Given the description of an element on the screen output the (x, y) to click on. 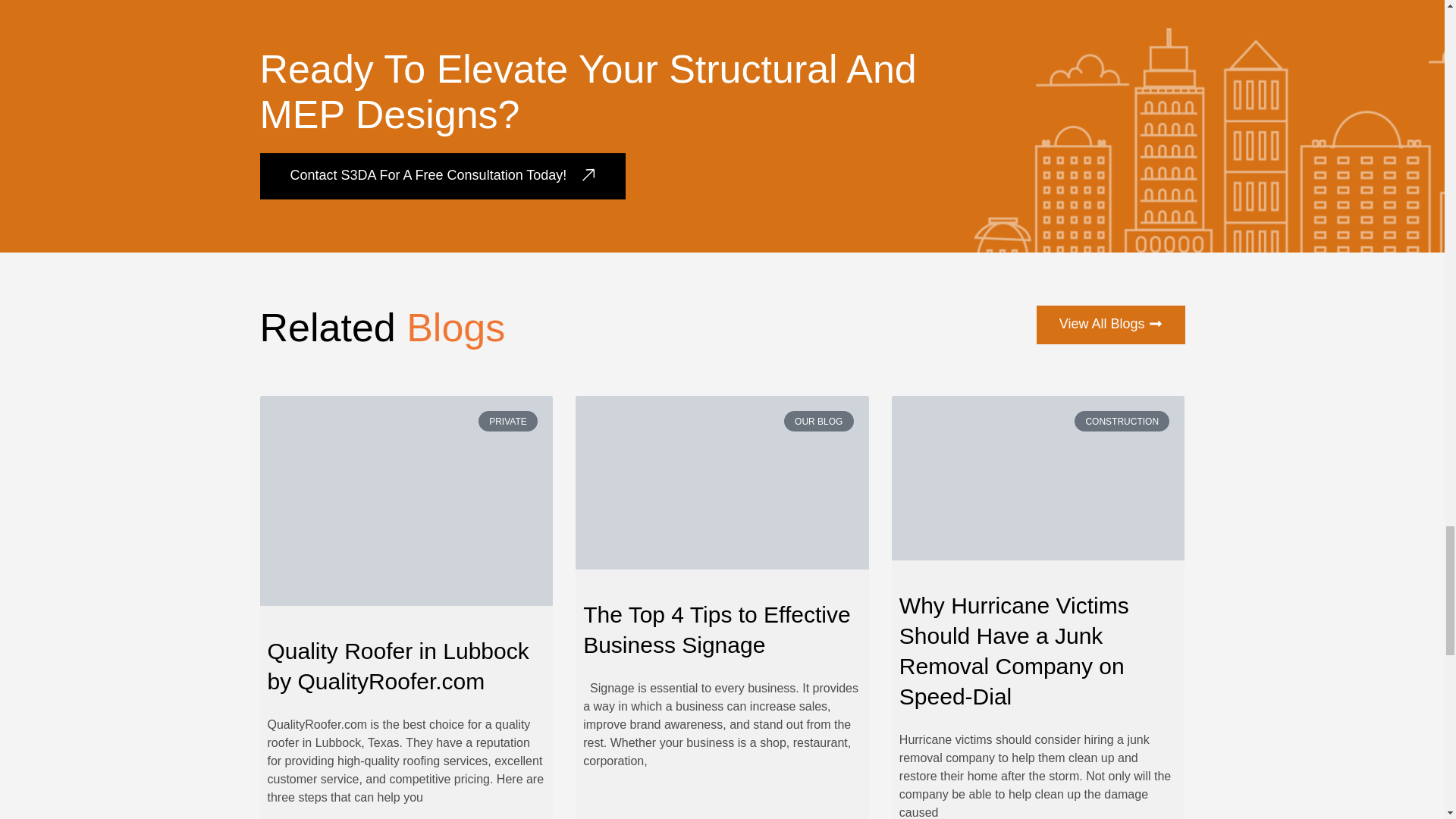
Contact S3DA For A Free Consultation Today! (442, 176)
View All Blogs (1110, 324)
Quality Roofer in Lubbock by QualityRoofer.com (397, 665)
